Given the description of an element on the screen output the (x, y) to click on. 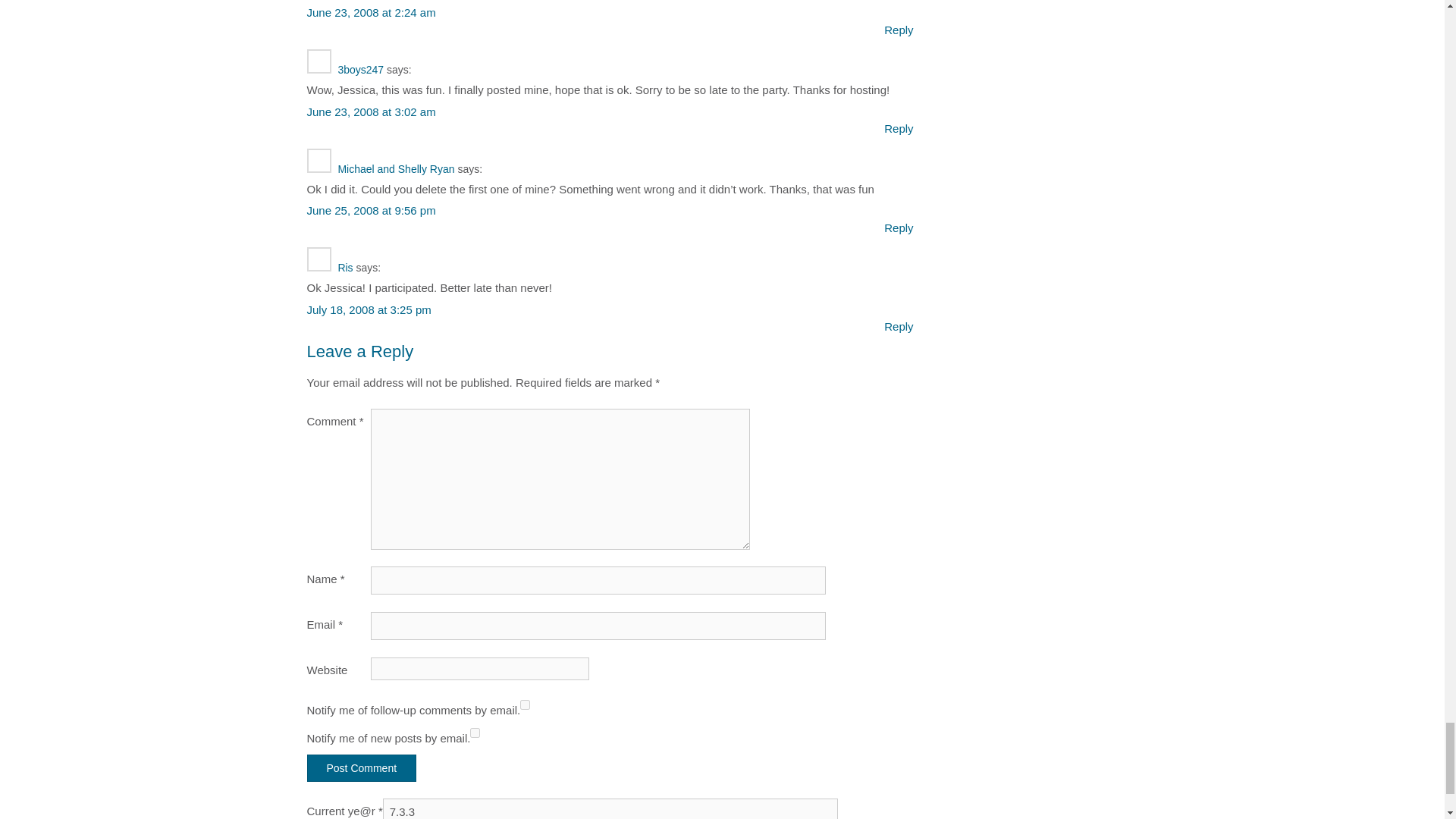
Post Comment (360, 768)
subscribe (475, 732)
7.3.3 (610, 808)
subscribe (524, 705)
